Given the description of an element on the screen output the (x, y) to click on. 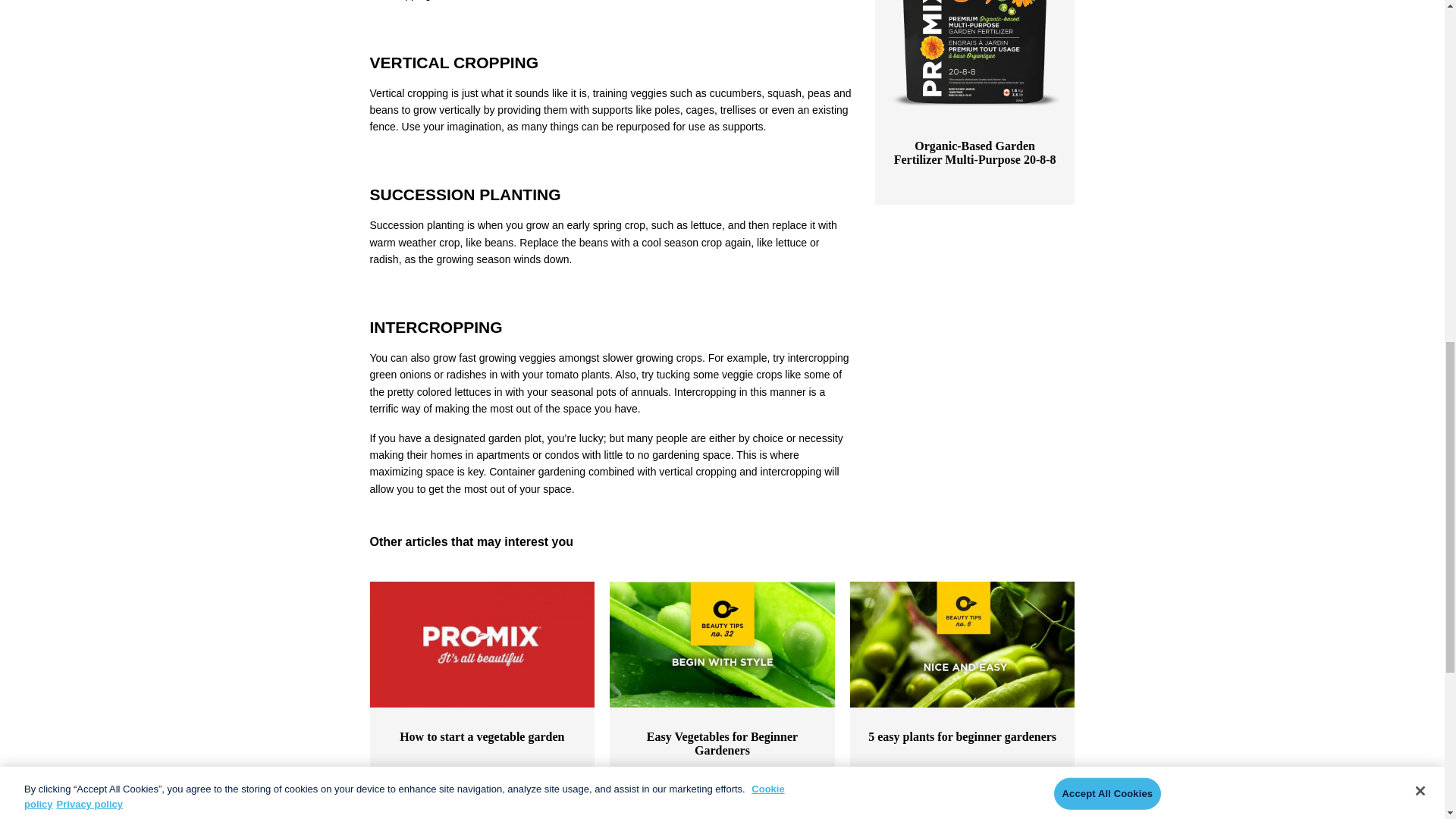
Easy Vegetables for Beginner Gardeners (722, 644)
